Given the description of an element on the screen output the (x, y) to click on. 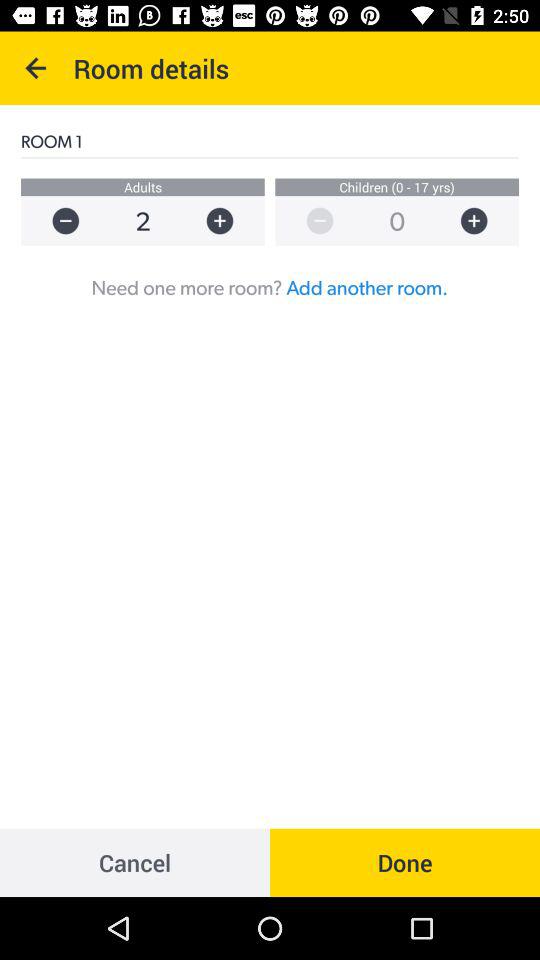
turn on cancel at the bottom left corner (135, 862)
